Given the description of an element on the screen output the (x, y) to click on. 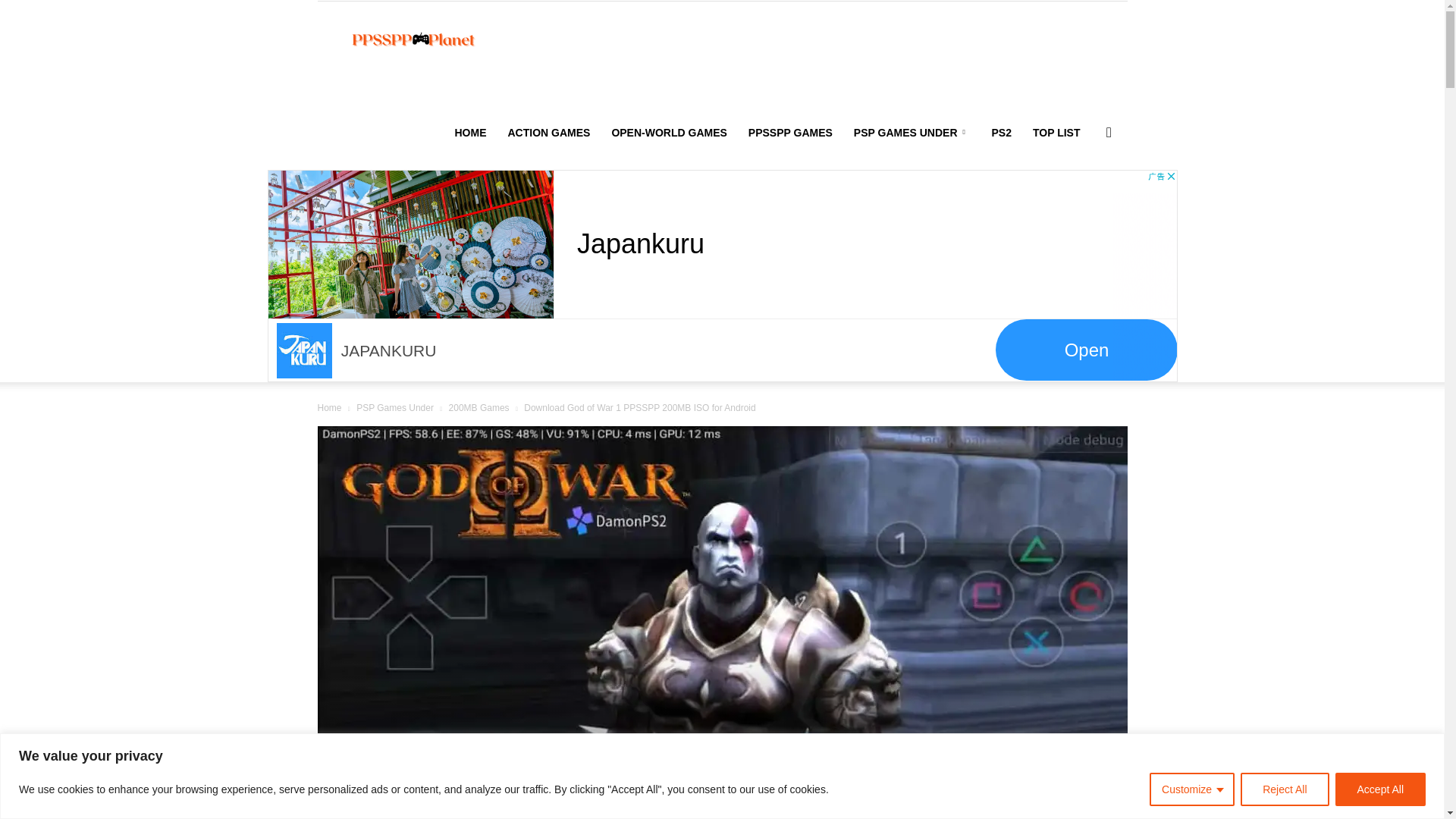
PSPGP (419, 41)
Reject All (1283, 788)
View all posts in PSP Games Under (394, 407)
Customize (1192, 788)
Accept All (1380, 788)
Search (1085, 204)
View all posts in 200MB Games (478, 407)
